Given the description of an element on the screen output the (x, y) to click on. 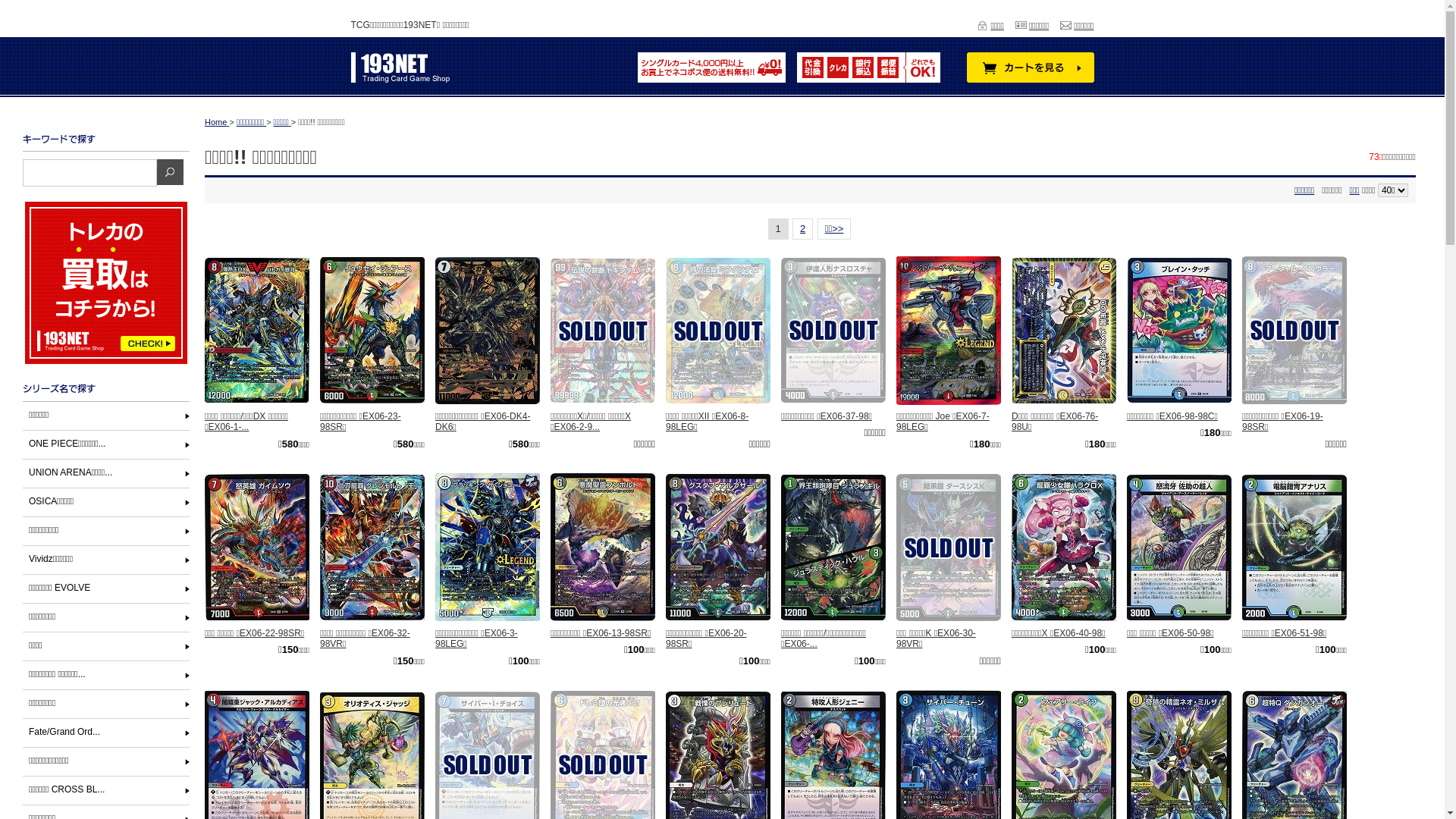
Fate/Grand Ord... Element type: text (111, 731)
Home Element type: text (216, 121)
2 Element type: text (802, 228)
